Given the description of an element on the screen output the (x, y) to click on. 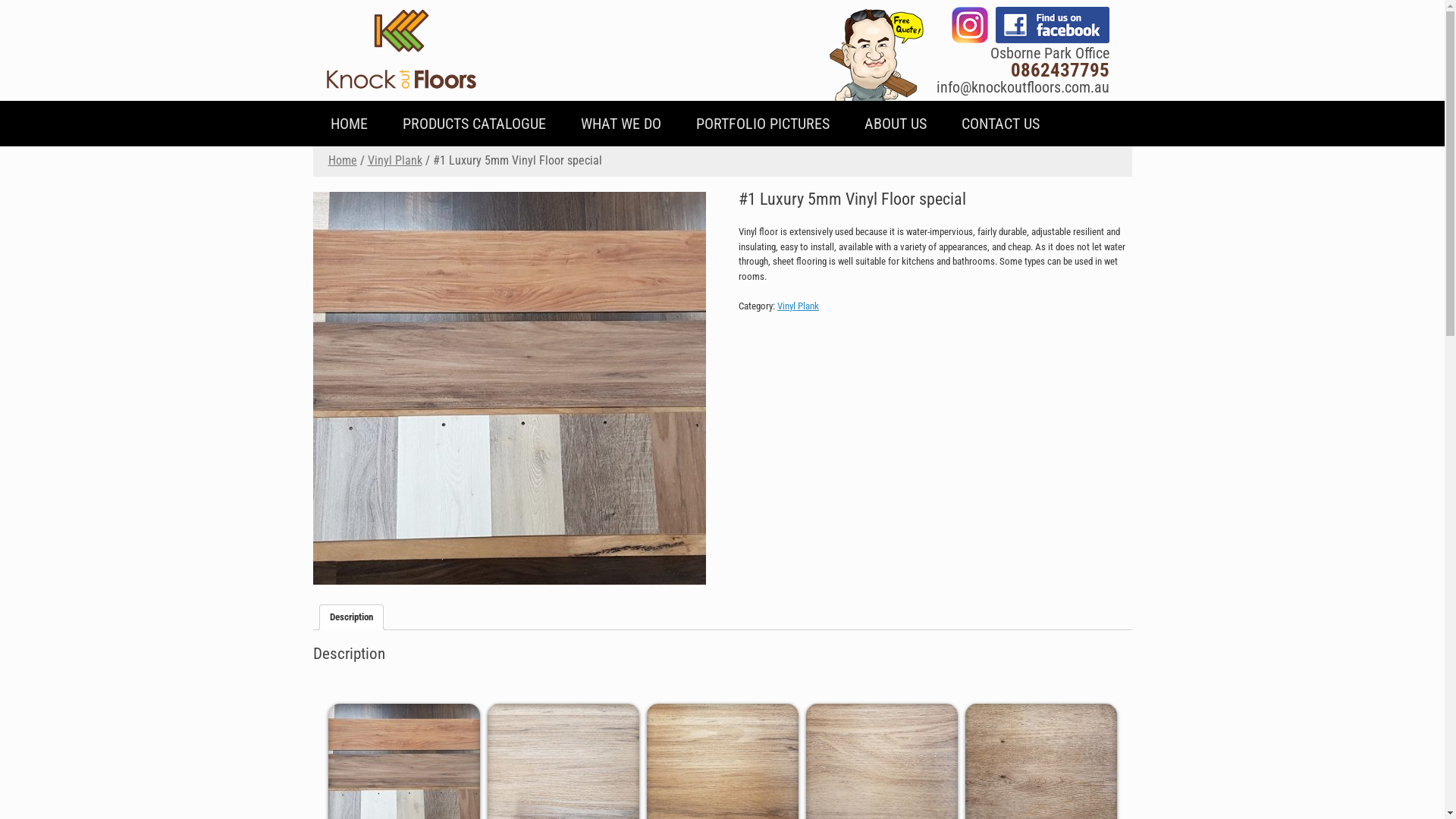
PRODUCTS CATALOGUE Element type: text (474, 123)
CONTACT US Element type: text (999, 123)
Home Element type: text (341, 160)
Knock Out Floors Element type: hover (401, 50)
HOME Element type: text (348, 123)
ABOUT US Element type: text (894, 123)
WHAT WE DO Element type: text (619, 123)
Vinyl Plank Element type: text (394, 160)
Vinyl sample (15) Element type: hover (508, 387)
Description Element type: text (350, 617)
PORTFOLIO PICTURES Element type: text (761, 123)
Vinyl Plank Element type: text (798, 305)
